Given the description of an element on the screen output the (x, y) to click on. 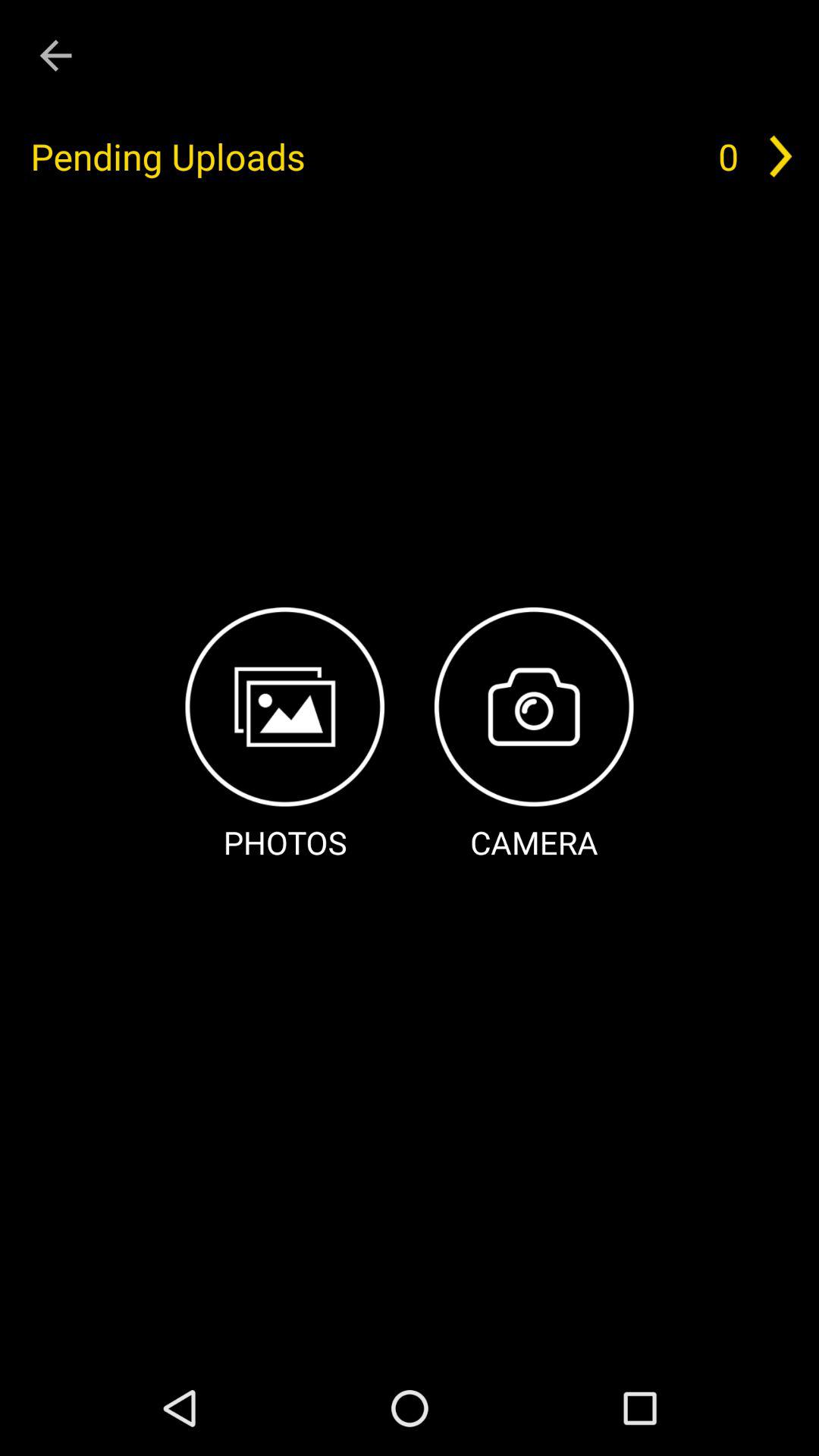
flip to 0 icon (728, 155)
